Given the description of an element on the screen output the (x, y) to click on. 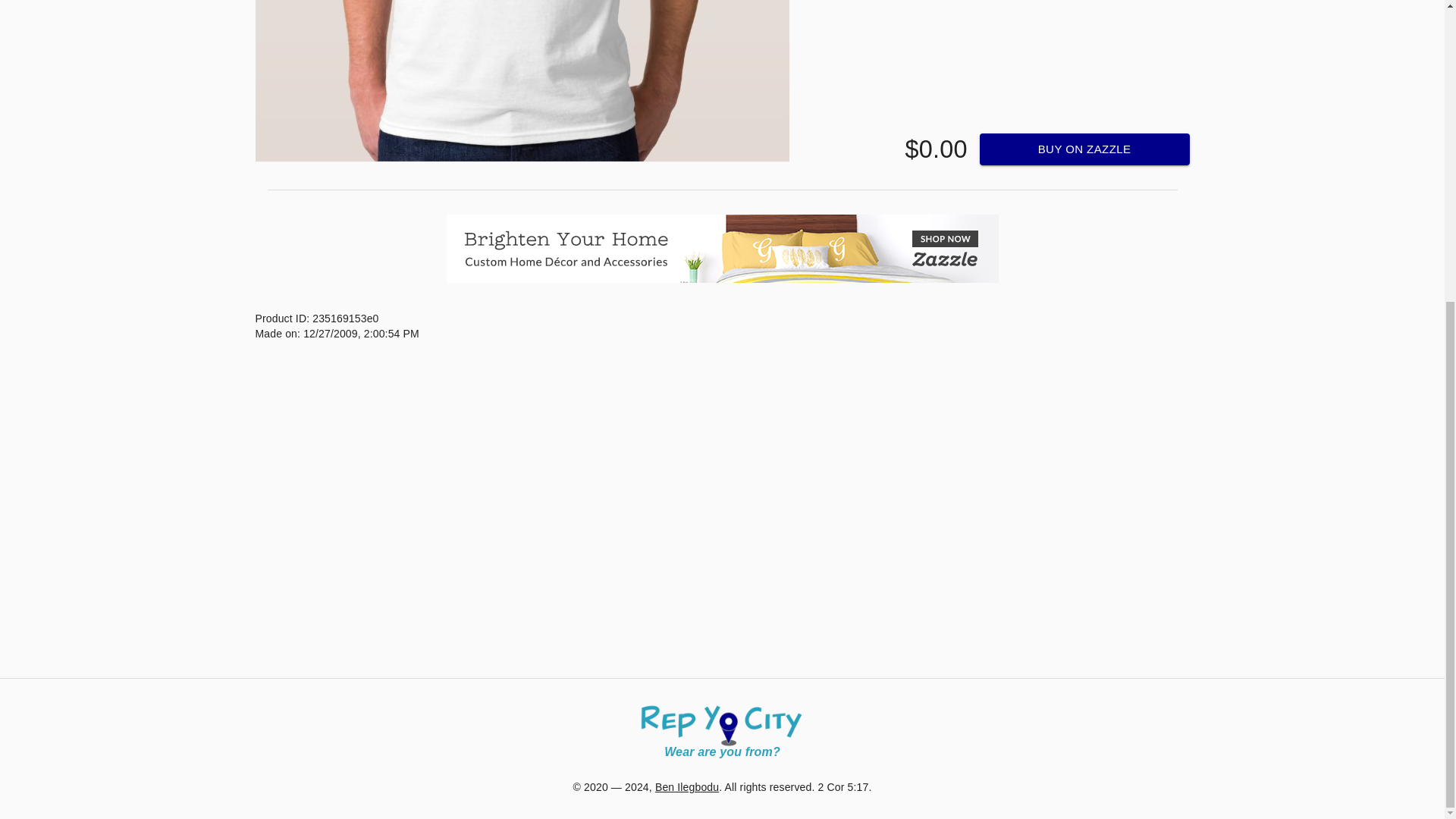
2 Cor 5:17 (843, 787)
Advertisement (721, 635)
Ben Ilegbodu (687, 787)
BUY ON ZAZZLE (1084, 149)
